Given the description of an element on the screen output the (x, y) to click on. 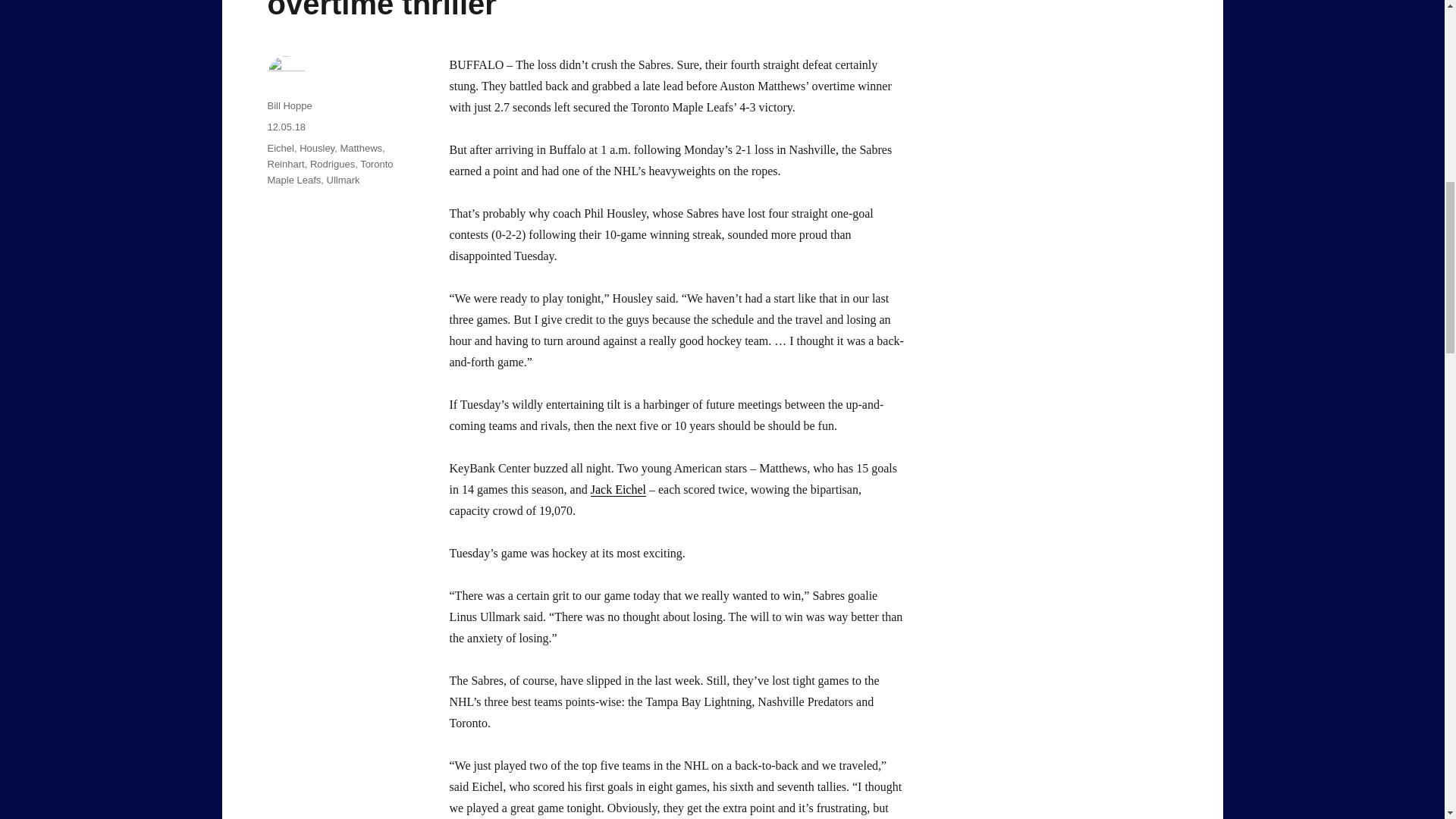
Bill Hoppe (288, 105)
Matthews (360, 147)
Reinhart (285, 163)
Rodrigues (332, 163)
Eichel (280, 147)
Toronto Maple Leafs (329, 171)
Ullmark (342, 179)
12.05.18 (285, 126)
Housley (316, 147)
Jack Eichel (618, 489)
